Given the description of an element on the screen output the (x, y) to click on. 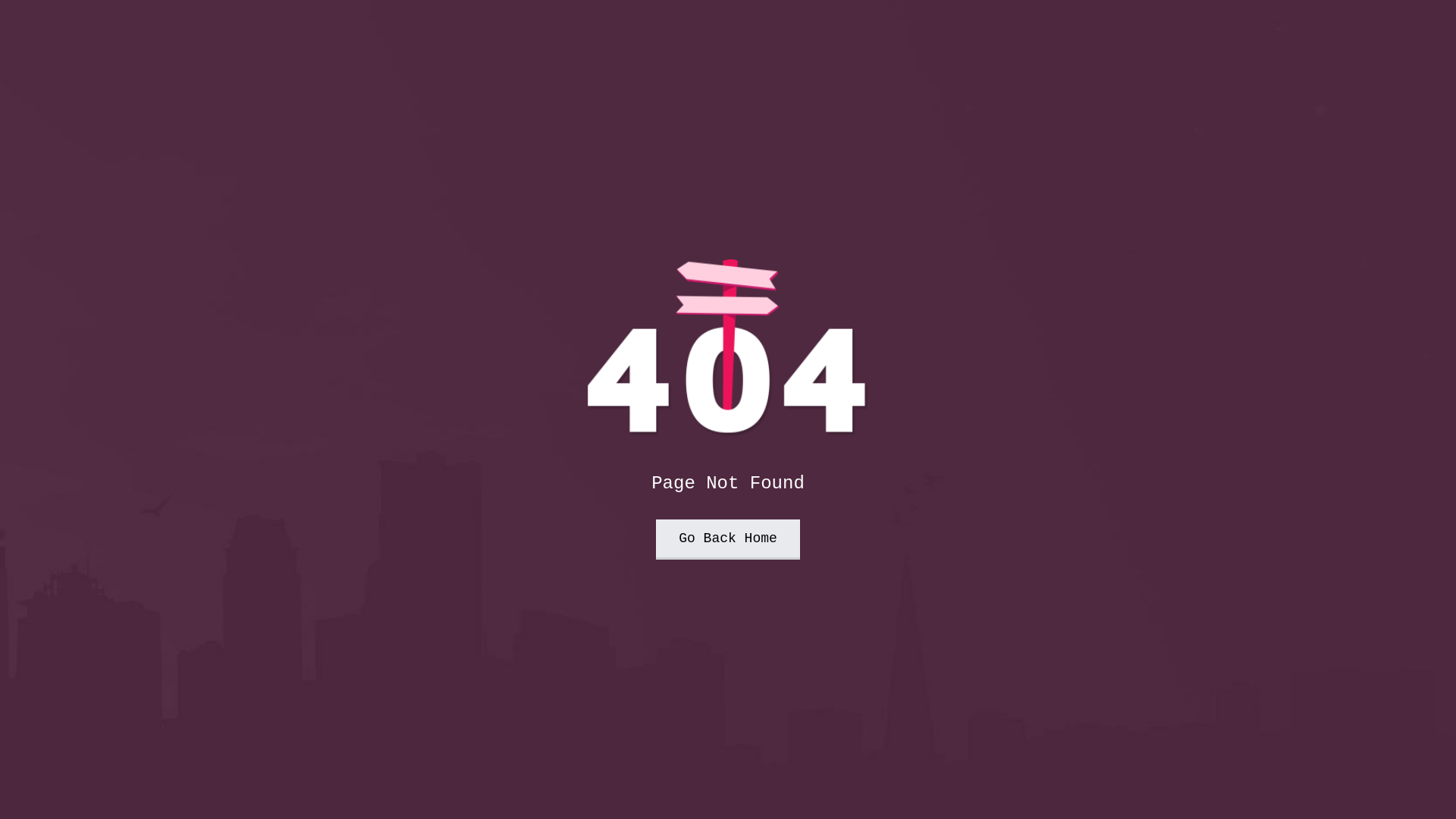
Go Back Home Element type: text (727, 539)
